Given the description of an element on the screen output the (x, y) to click on. 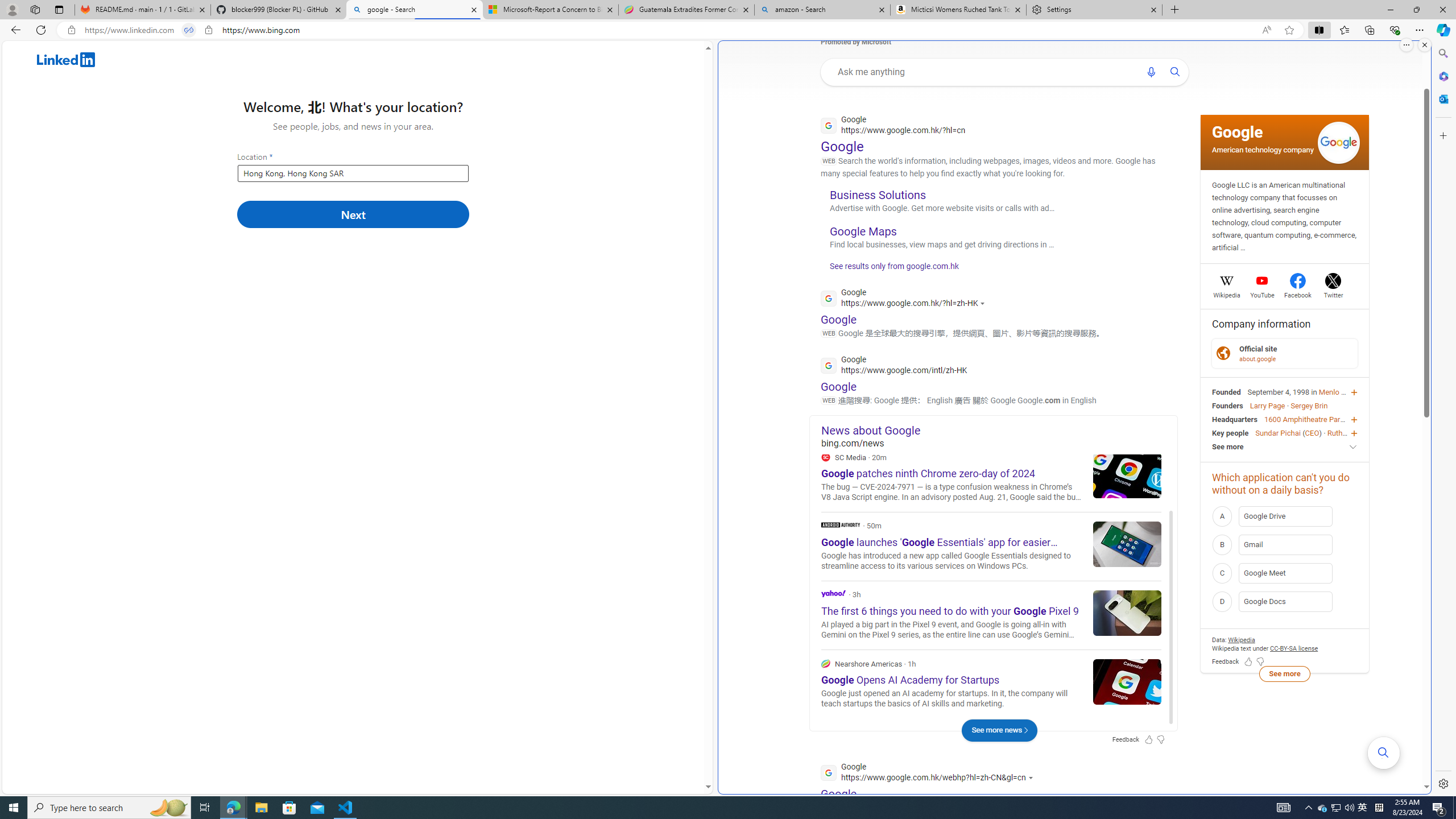
Data attribution Wikipedia (1241, 639)
The first 6 things you need to do with your Google Pixel 9 (1127, 612)
Android Authority (991, 545)
See results only from google.com.hk (890, 268)
Sergey Brin (1308, 405)
Class: rms_img (1407, 41)
Tabs in split screen (189, 29)
SC Media (825, 456)
